Given the description of an element on the screen output the (x, y) to click on. 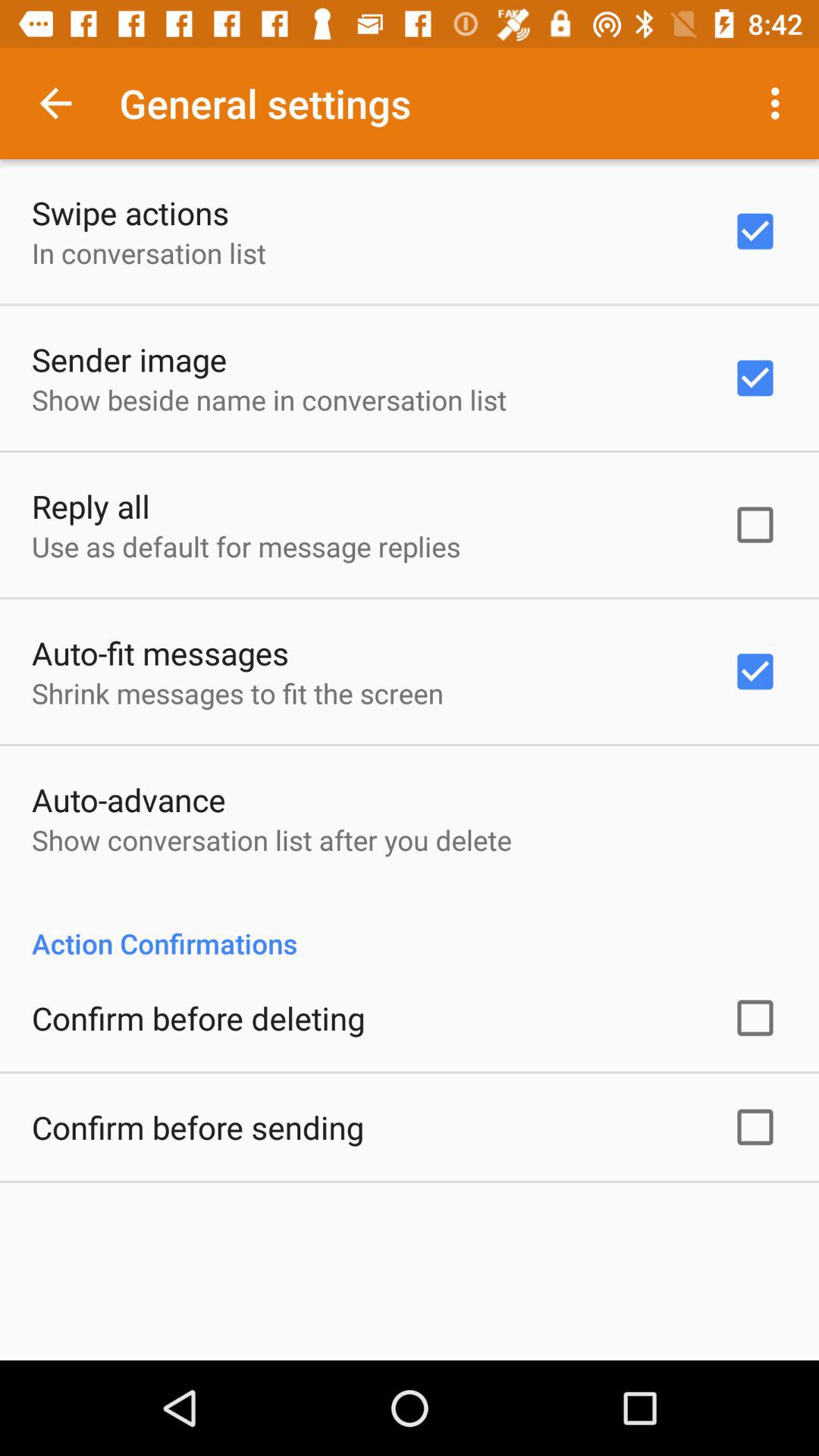
select the icon below the shrink messages to item (128, 799)
